Given the description of an element on the screen output the (x, y) to click on. 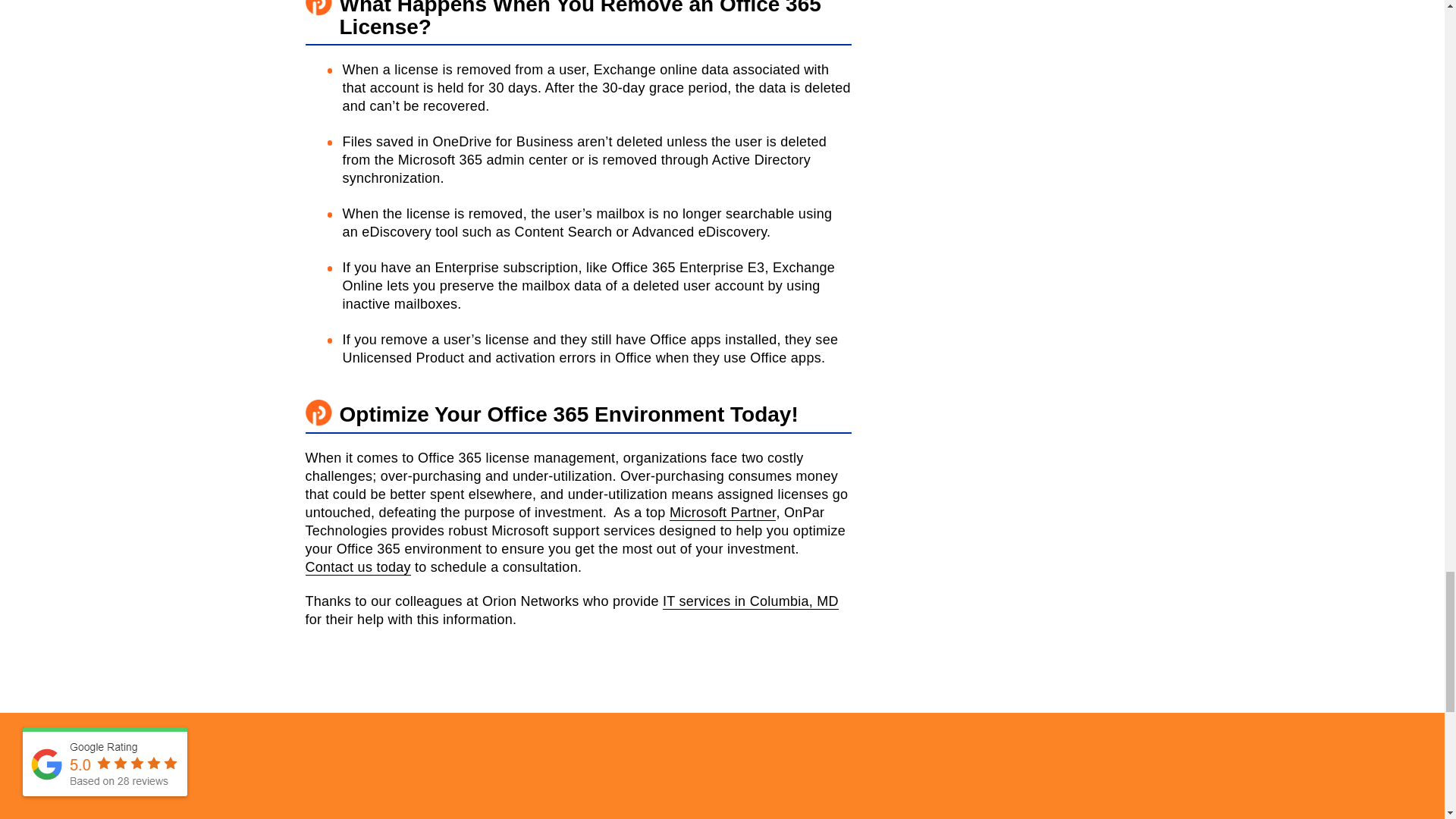
Microsoft Partner (722, 512)
